Given the description of an element on the screen output the (x, y) to click on. 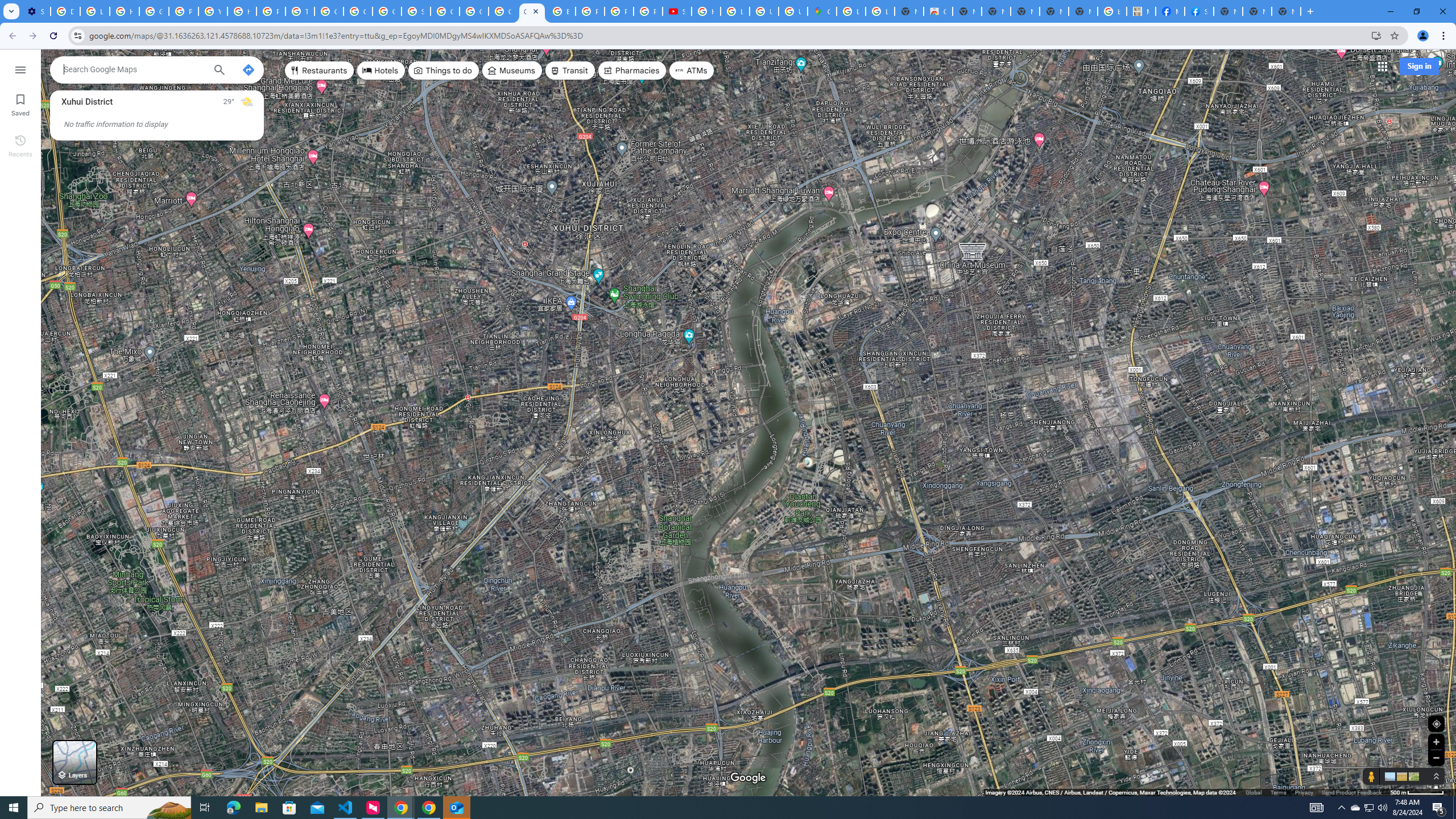
Search Google Maps (133, 69)
Sign in - Google Accounts (415, 11)
ATMs (691, 70)
Install Google Maps (1376, 35)
Show imagery (1412, 776)
Delete photos & videos - Computer - Google Photos Help (65, 11)
